Given the description of an element on the screen output the (x, y) to click on. 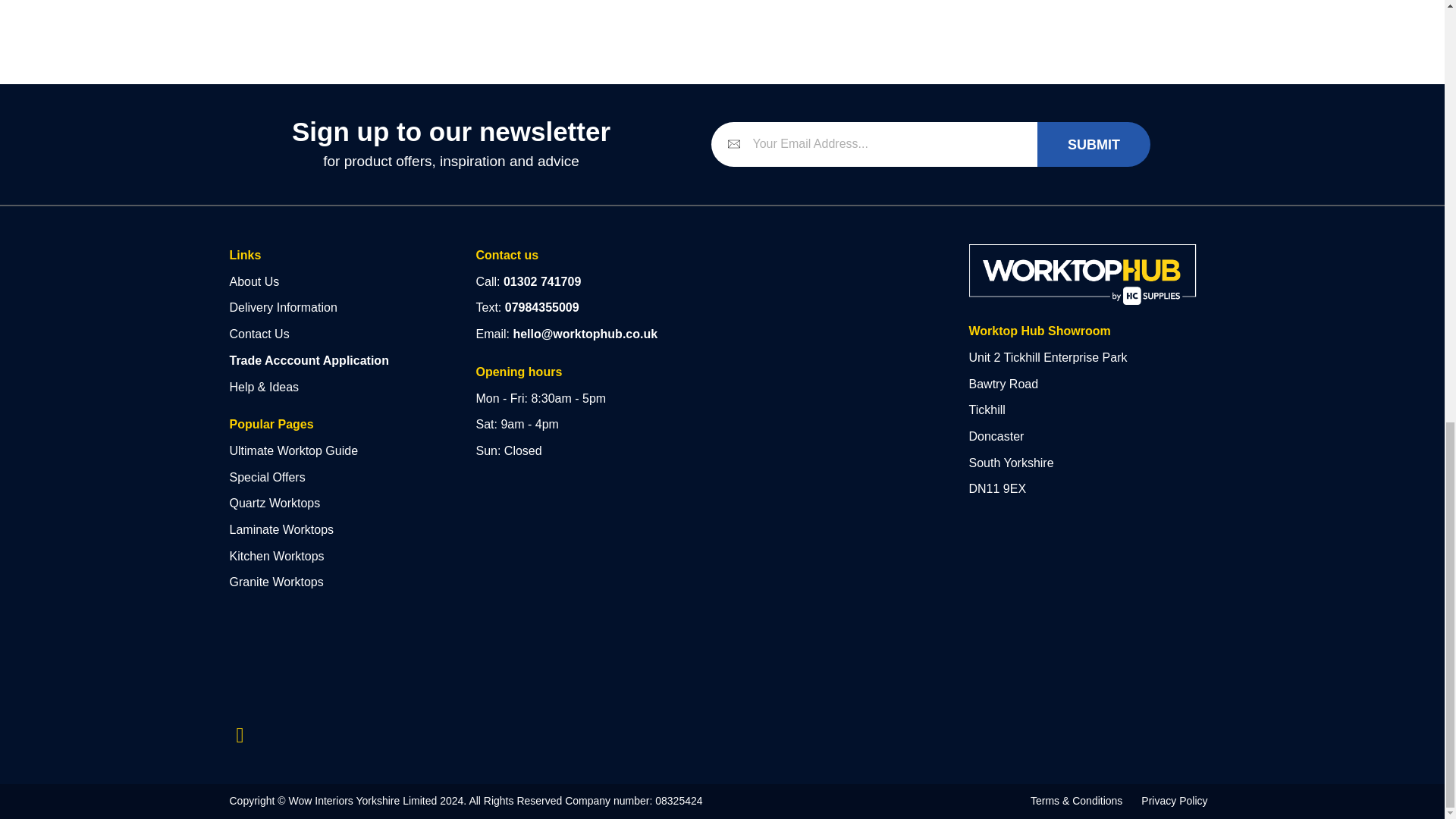
dn11 9ex (826, 339)
